Given the description of an element on the screen output the (x, y) to click on. 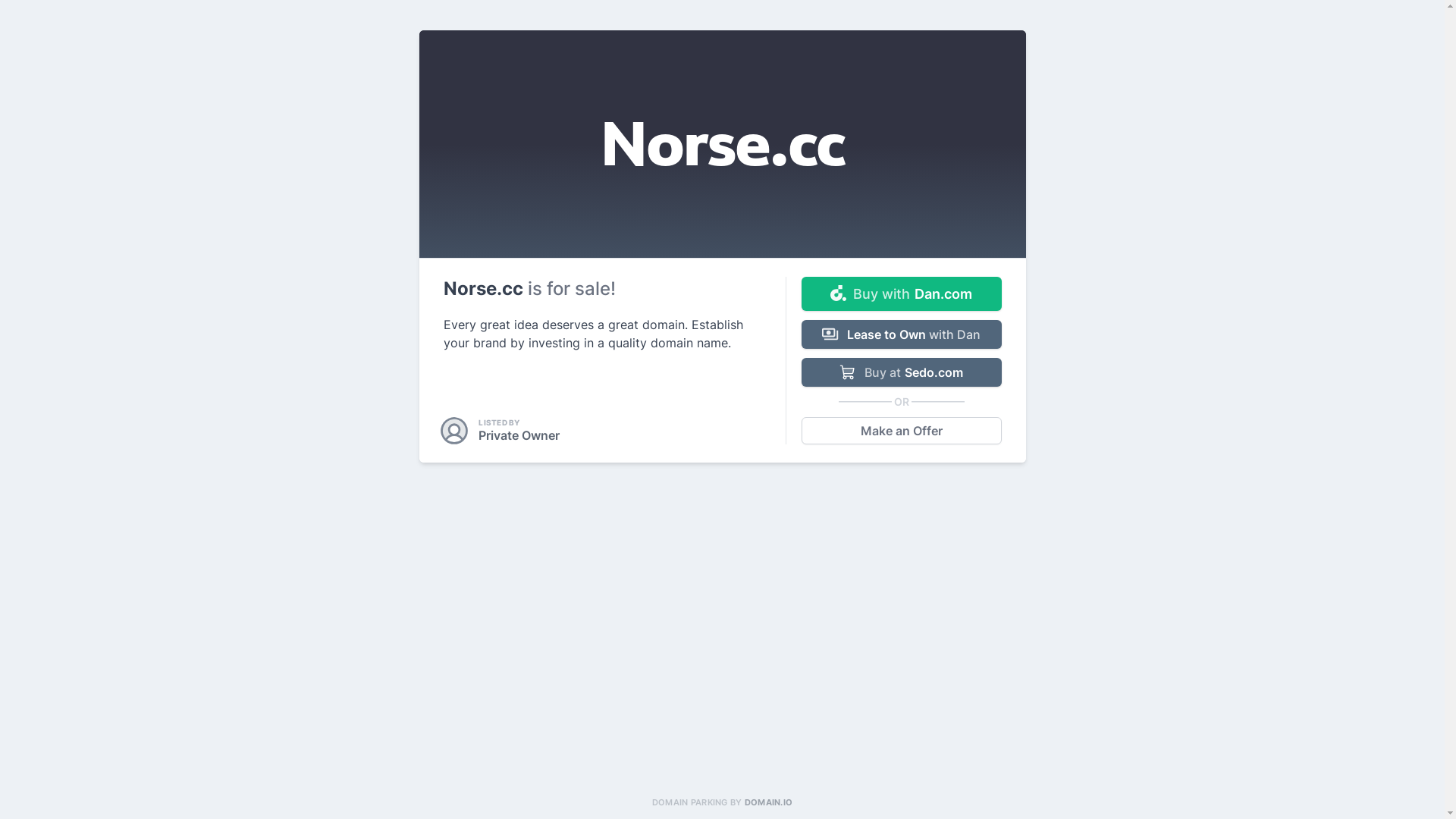
Lease to Own with Dan Element type: text (900, 334)
DOMAIN PARKING BY DOMAIN.IO Element type: text (722, 802)
Buy with Dan.com Element type: text (900, 293)
Buy at Sedo.com Element type: text (900, 371)
Make an Offer Element type: text (900, 430)
LISTED BY
Private Owner Element type: text (500, 430)
